Given the description of an element on the screen output the (x, y) to click on. 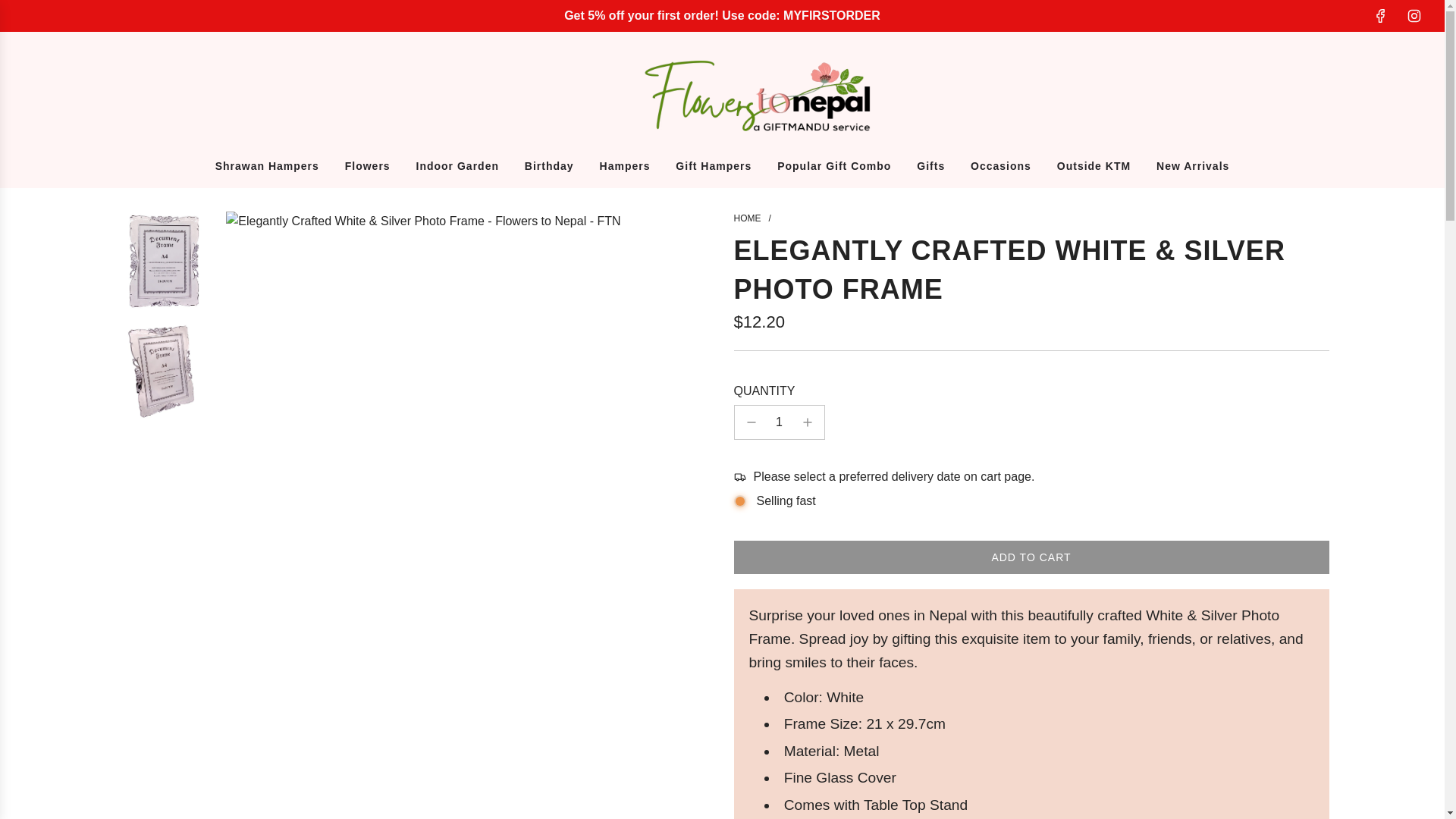
Back to the frontpage (747, 217)
